Given the description of an element on the screen output the (x, y) to click on. 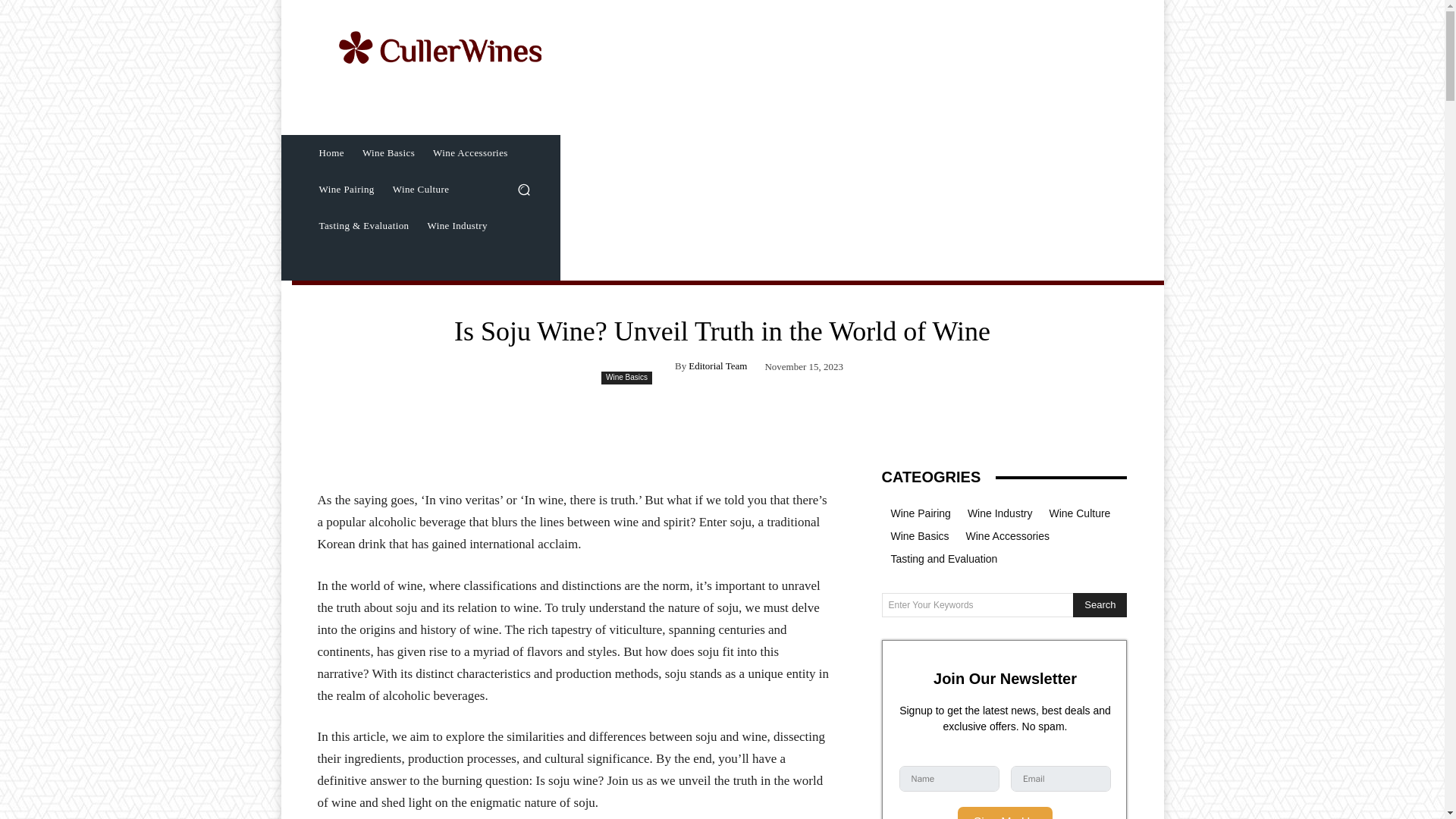
Wine Basics (388, 153)
Editorial Team (717, 366)
Wine Basics (626, 377)
Wine Industry (457, 226)
Wine Culture (421, 189)
Wine Pairing (345, 189)
Wine Accessories (469, 153)
Home (330, 153)
